Given the description of an element on the screen output the (x, y) to click on. 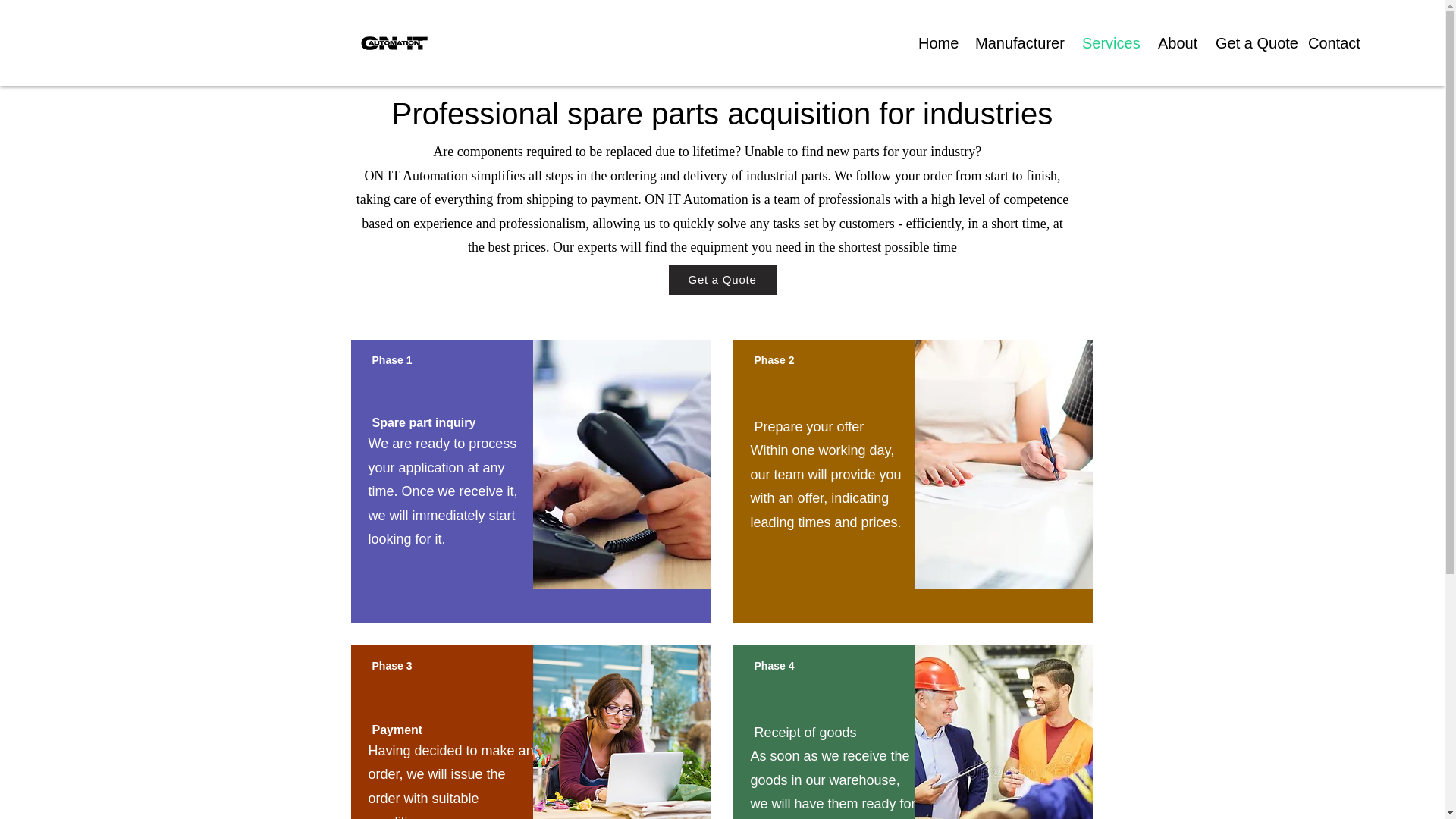
Contact (1331, 42)
Home (935, 42)
Manufacturer (1016, 42)
Get a Quote (722, 278)
Services (1108, 42)
About (1175, 42)
Get a Quote (1250, 42)
